Given the description of an element on the screen output the (x, y) to click on. 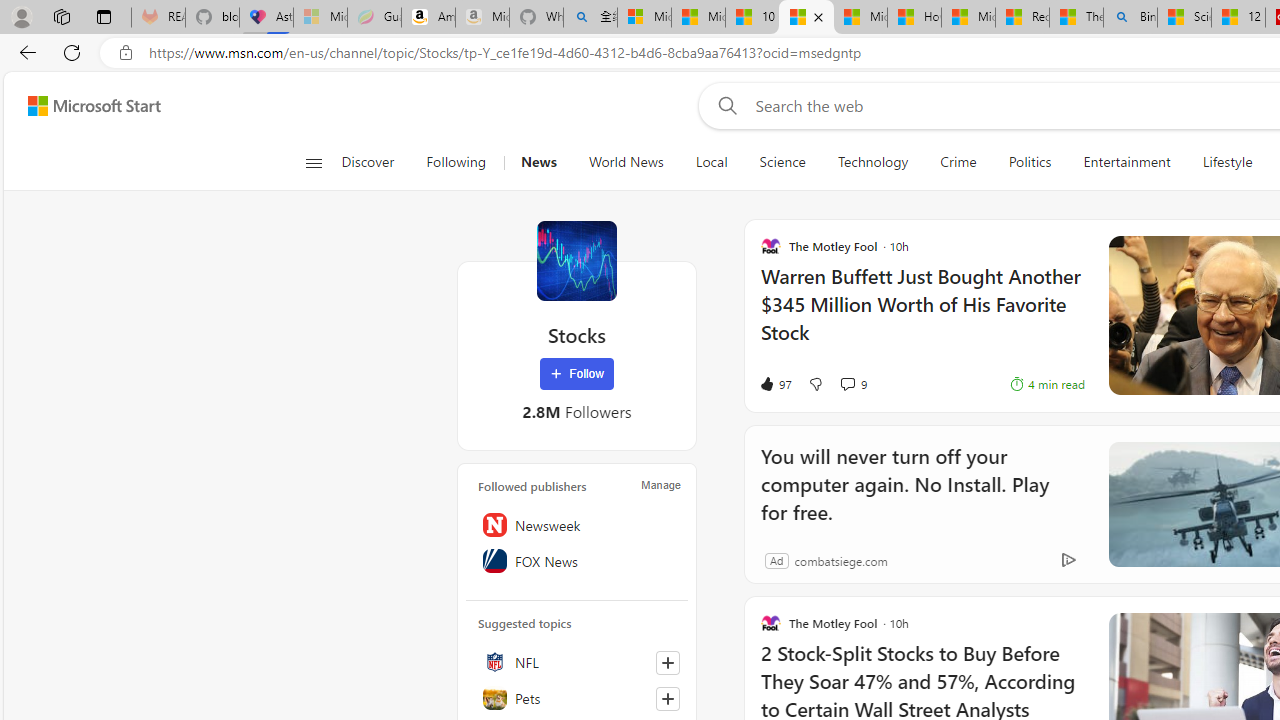
combatsiege.com (840, 560)
Skip to footer (82, 105)
Follow this topic (667, 698)
World News (625, 162)
NFL (577, 661)
Lifestyle (1227, 162)
Politics (1029, 162)
Science - MSN (1184, 17)
